Given the description of an element on the screen output the (x, y) to click on. 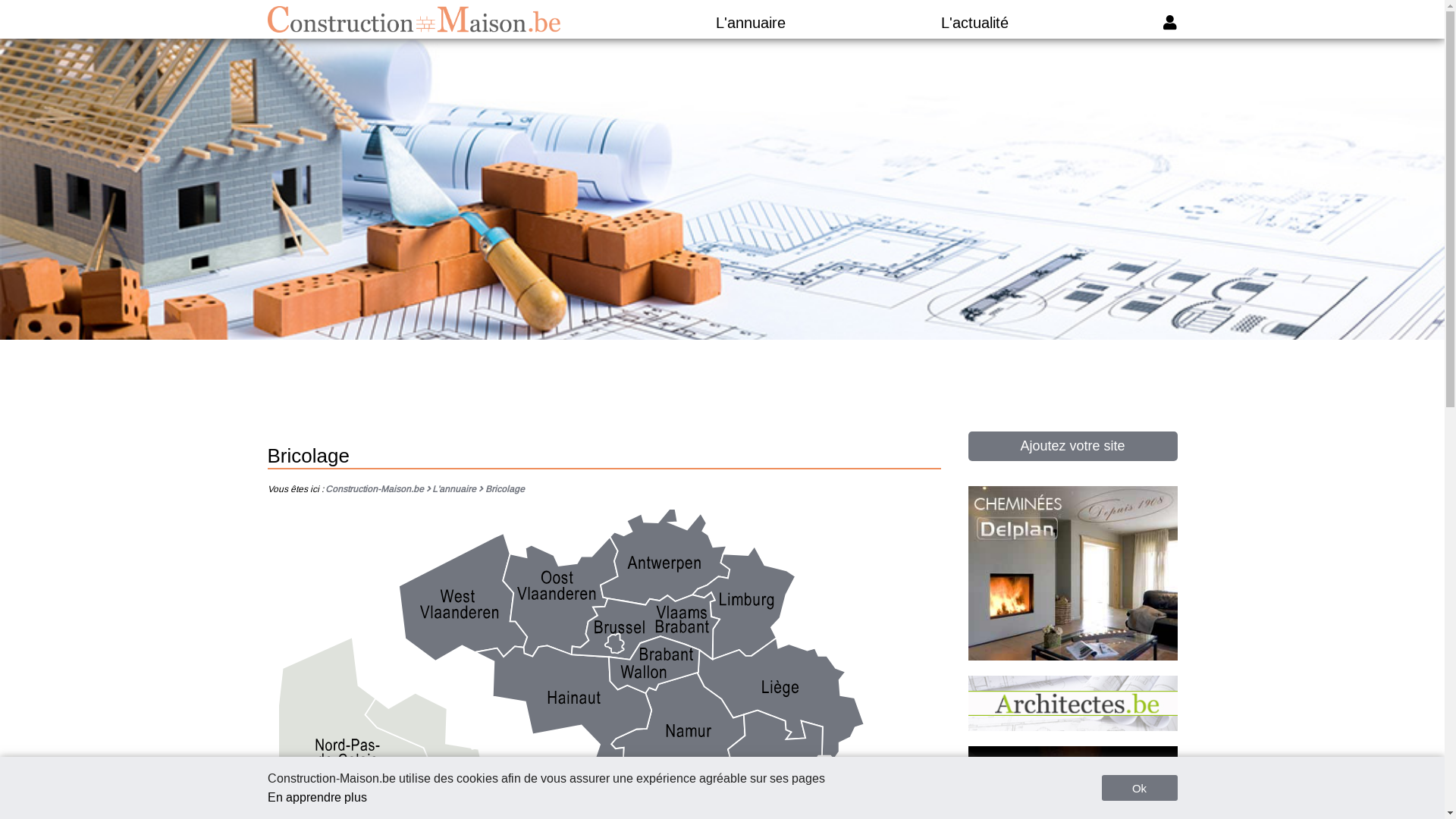
Ajoutez votre site Element type: text (1071, 446)
L'annuaire Element type: text (750, 22)
Construction-Maison.be Element type: hover (413, 19)
Construction-Maison.be Element type: text (378, 489)
Ajoutez votre site Element type: text (1071, 446)
Bricolage Element type: text (504, 489)
Cheminee Delplan Element type: hover (1071, 656)
Ok Element type: text (1138, 787)
L'annuaire Element type: text (458, 489)
En apprendre plus Element type: text (316, 797)
Architectes.be Element type: hover (1071, 726)
Advertisement Element type: hover (721, 385)
